Given the description of an element on the screen output the (x, y) to click on. 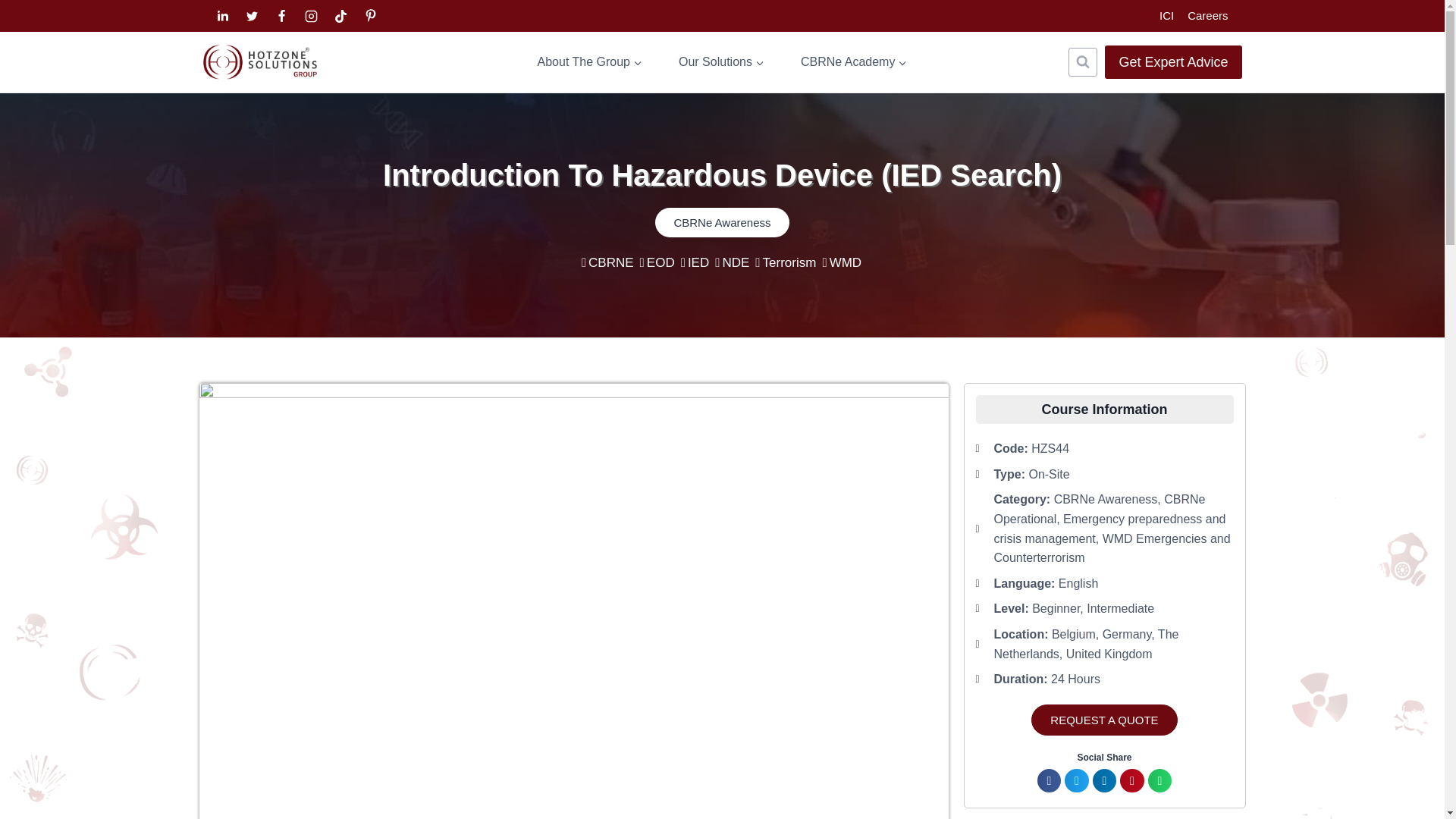
About The Group (590, 61)
Careers (1207, 15)
Our Solutions (722, 61)
